Given the description of an element on the screen output the (x, y) to click on. 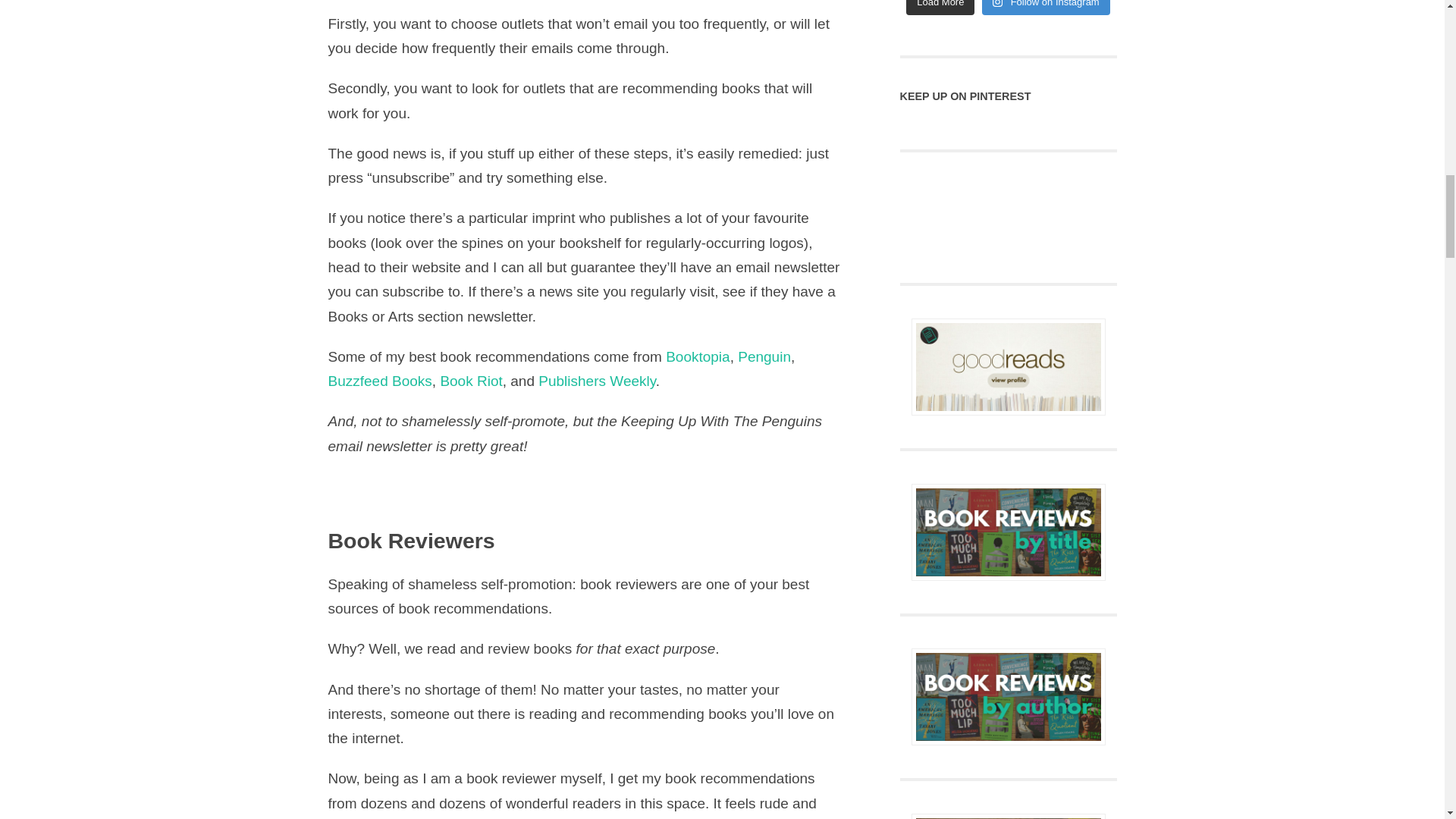
Book Riot (470, 381)
Booktopia (697, 356)
Publishers Weekly (597, 381)
Penguin (764, 356)
Buzzfeed Books (378, 381)
